Given the description of an element on the screen output the (x, y) to click on. 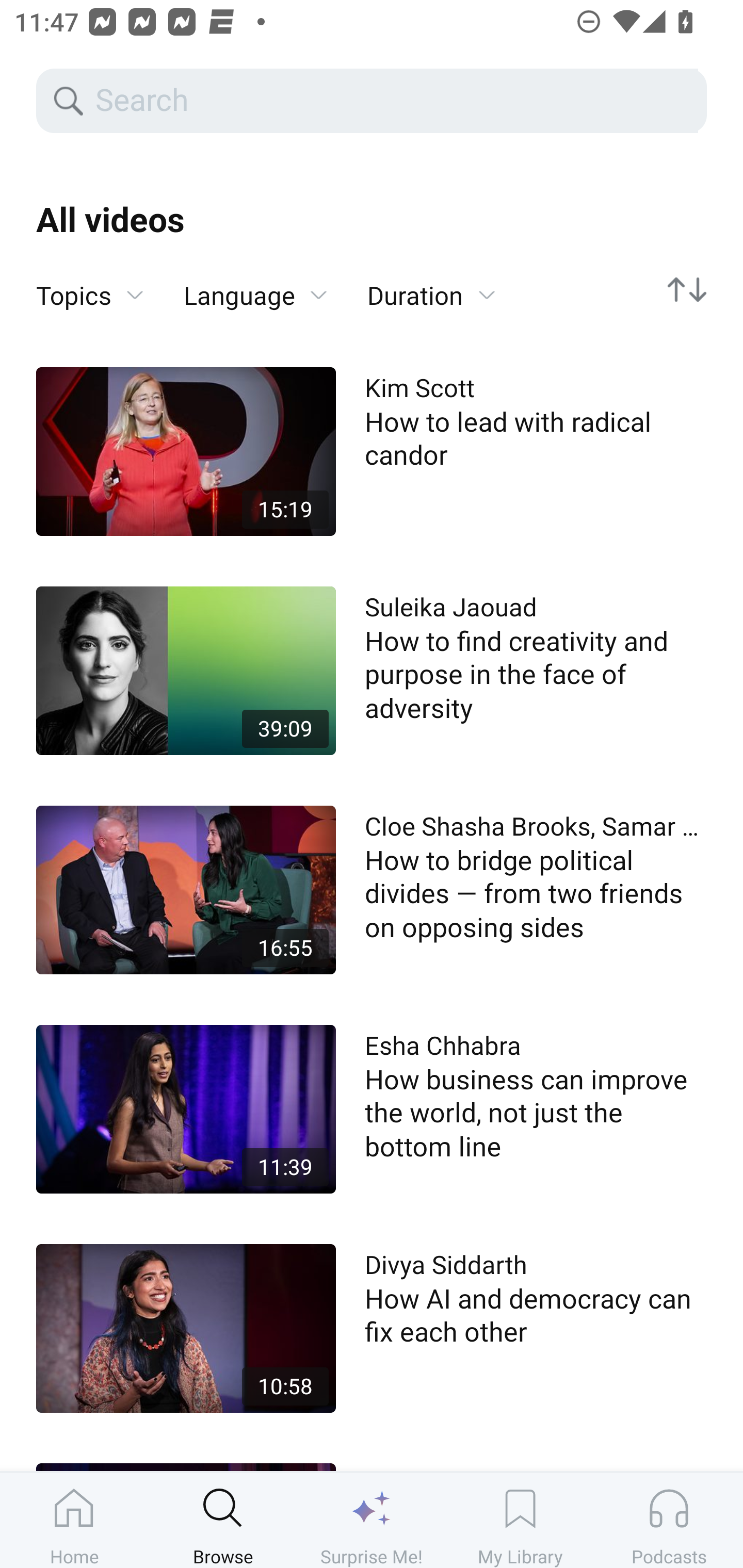
Search (395, 100)
Topics (90, 295)
Language (255, 295)
Duration (431, 295)
15:19 Kim Scott How to lead with radical candor (371, 451)
Home (74, 1520)
Browse (222, 1520)
Surprise Me! (371, 1520)
My Library (519, 1520)
Podcasts (668, 1520)
